Given the description of an element on the screen output the (x, y) to click on. 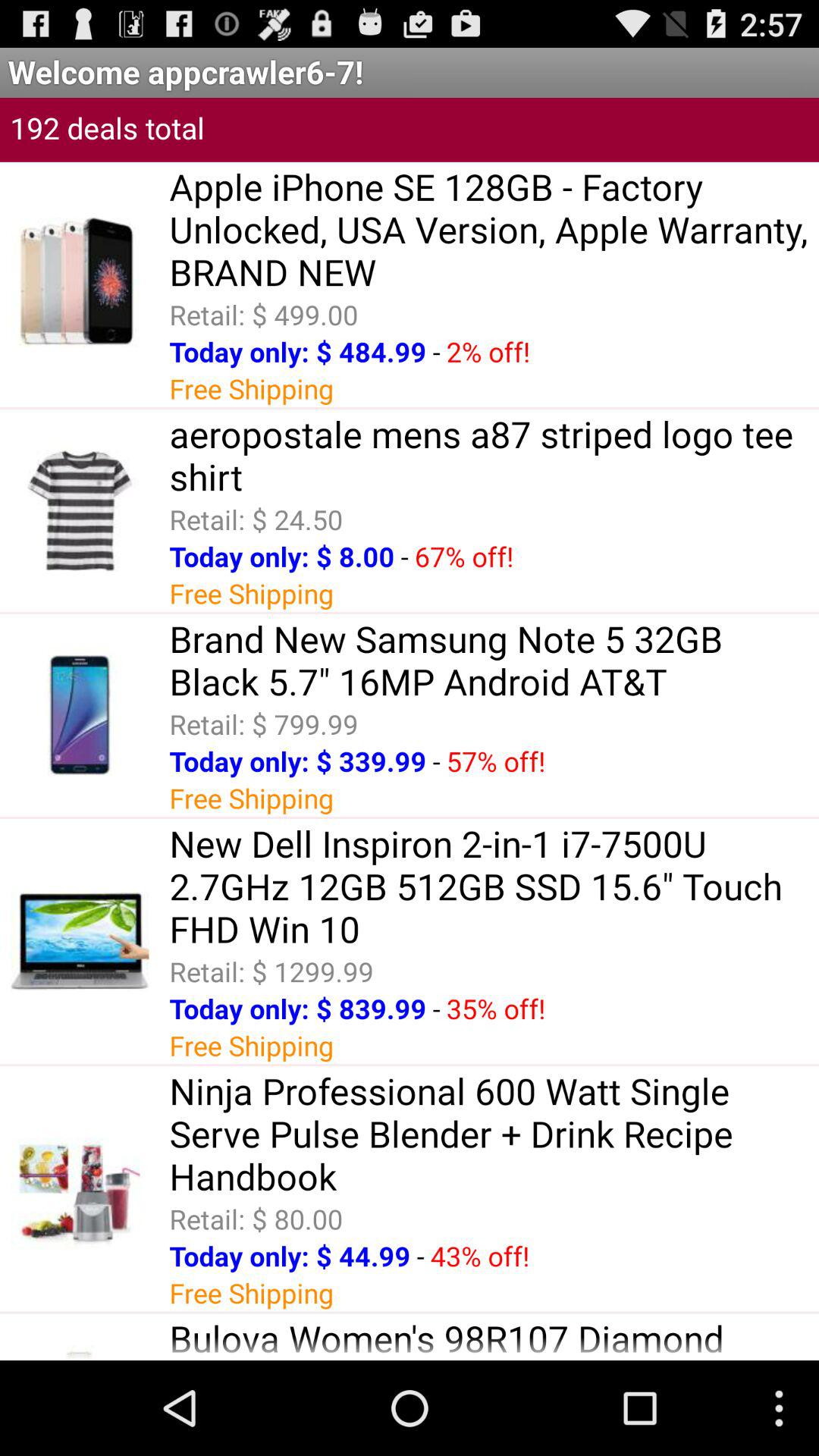
scroll to the - (436, 1008)
